Given the description of an element on the screen output the (x, y) to click on. 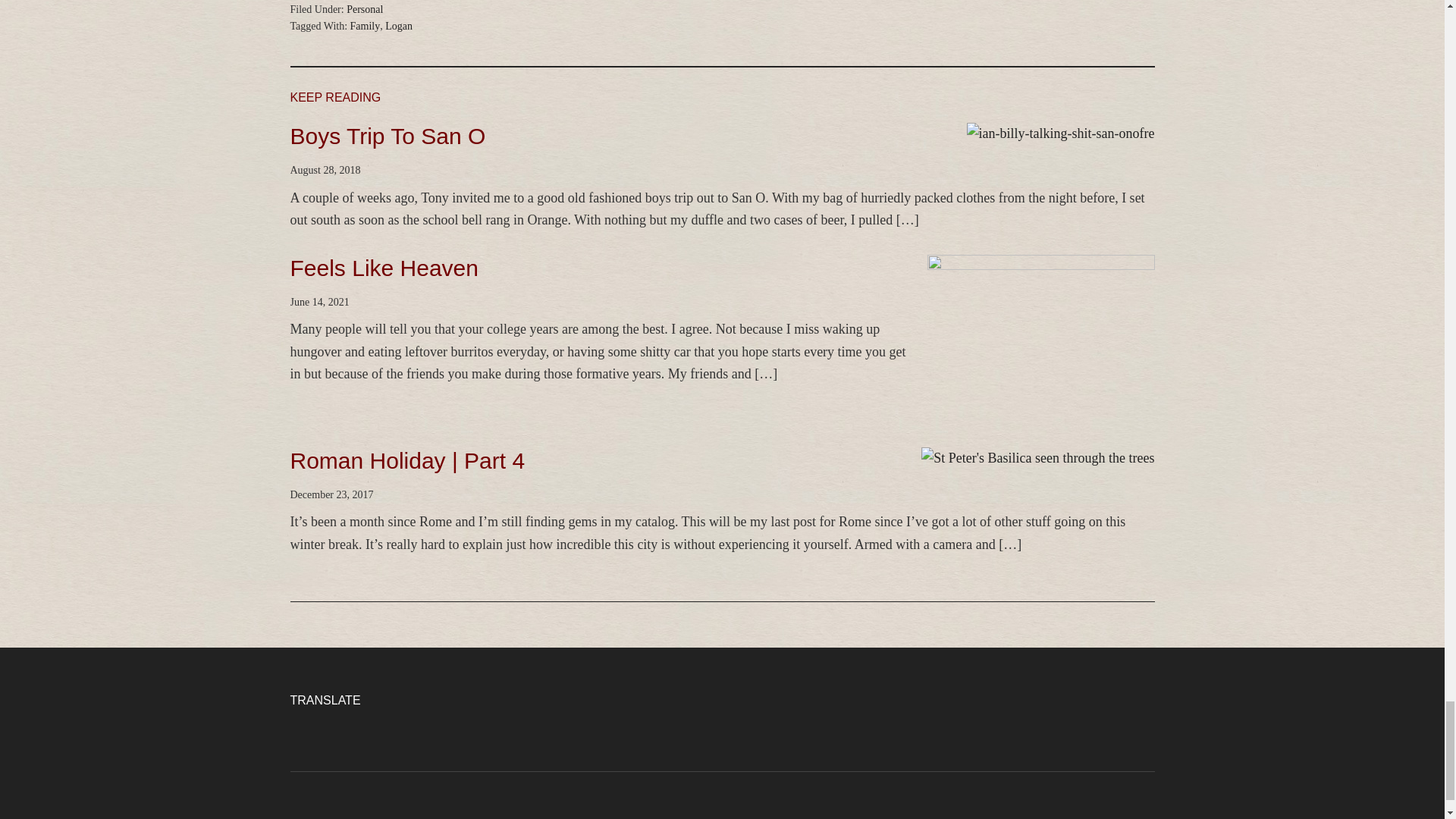
Feels Like Heaven (383, 267)
Personal (364, 9)
Logan (398, 25)
Family (365, 25)
Boys Trip To San O (386, 135)
